Given the description of an element on the screen output the (x, y) to click on. 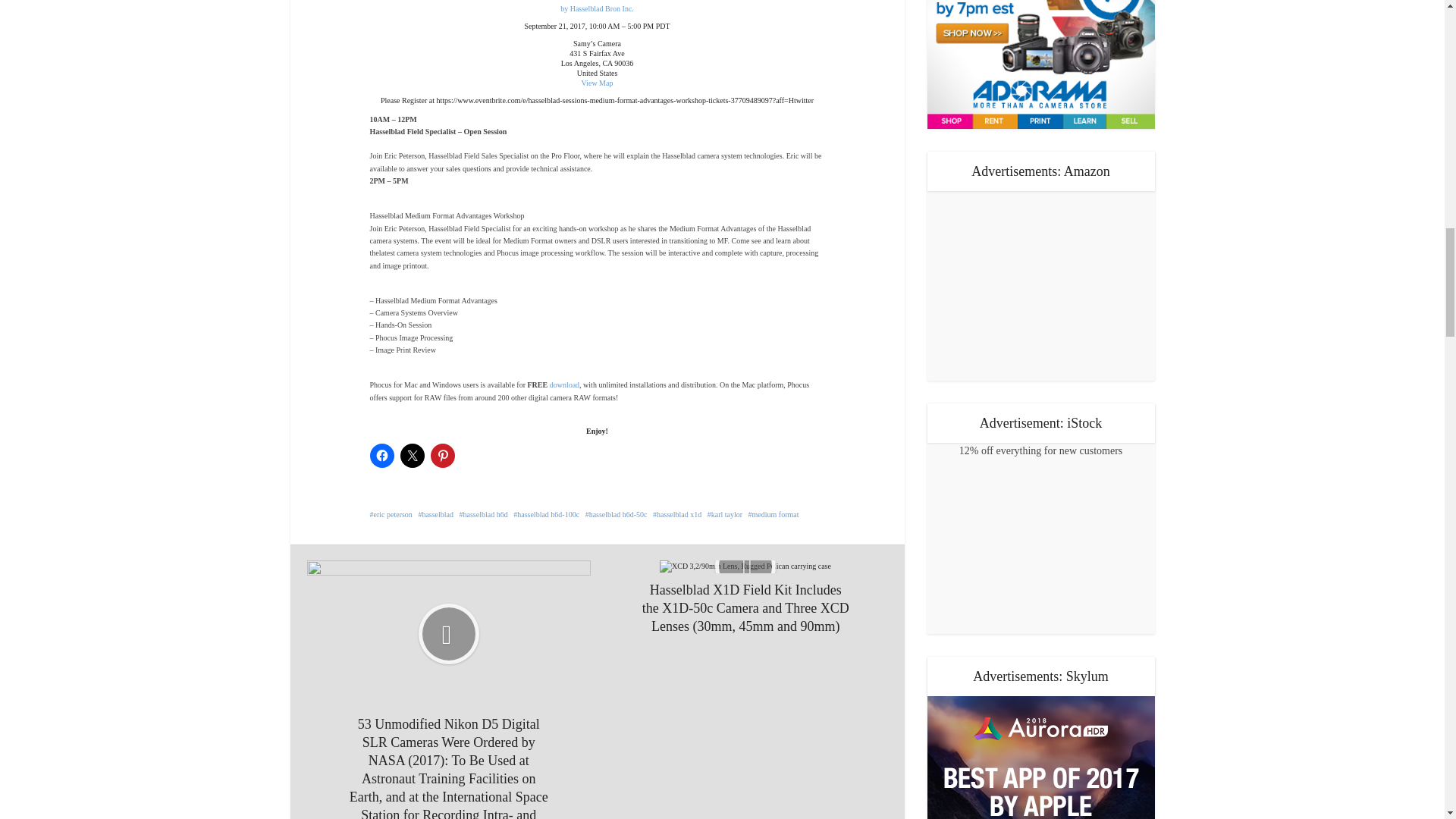
hasselblad (434, 514)
Click to share on X (412, 455)
by Hasselblad Bron Inc. (596, 8)
View Map (596, 82)
Click to share on Pinterest (442, 455)
View Map (596, 82)
Click to share on Facebook (381, 455)
hasselblad h6d-100c (546, 514)
hasselblad h6d (484, 514)
hasselblad x1d (676, 514)
